Given the description of an element on the screen output the (x, y) to click on. 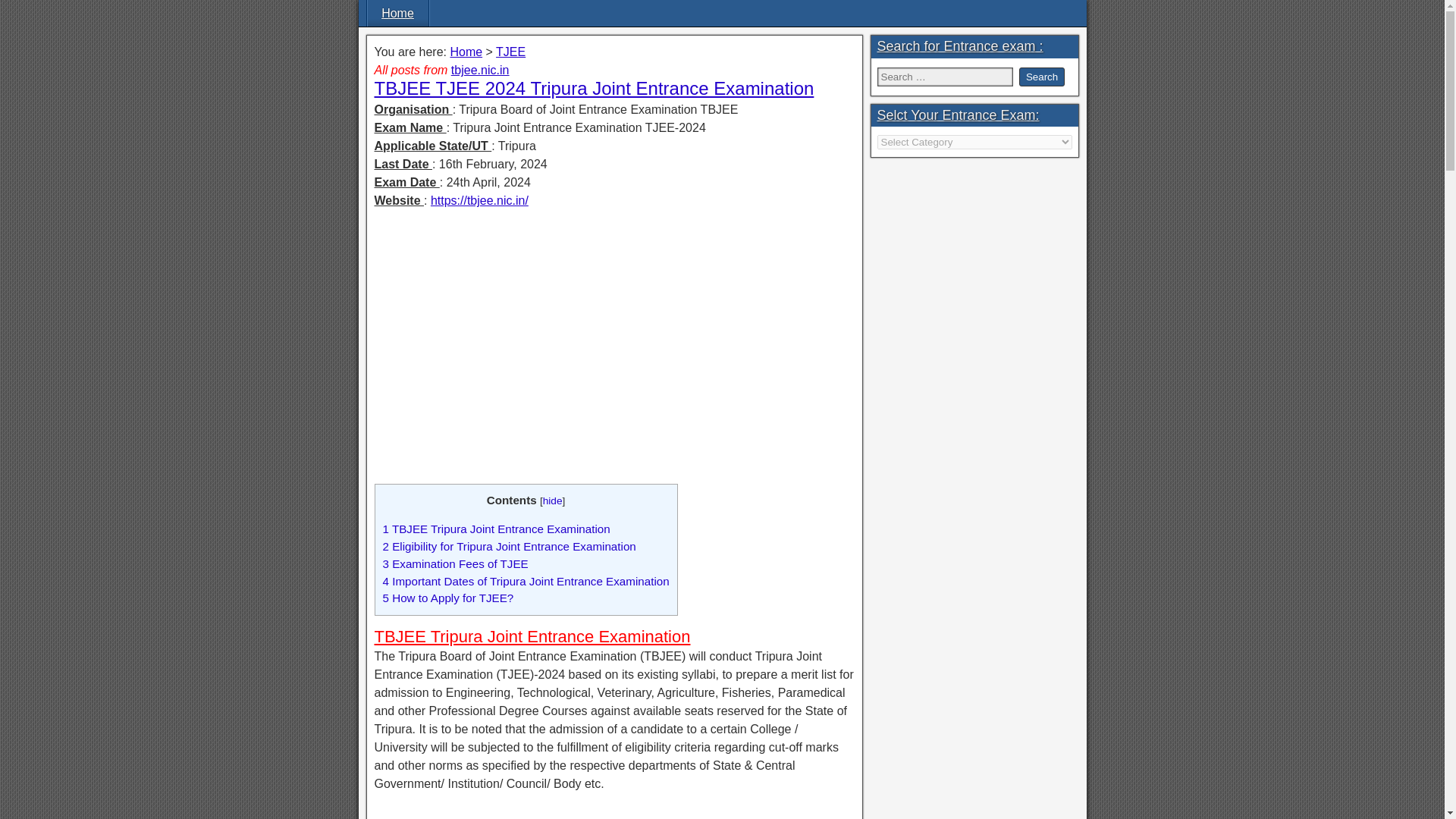
Search (1041, 76)
Home (397, 13)
Advertisement (614, 811)
4 Important Dates of Tripura Joint Entrance Examination (524, 581)
1 TBJEE Tripura Joint Entrance Examination (495, 528)
Search (1041, 76)
Home (465, 51)
hide (552, 500)
Search (1041, 76)
3 Examination Fees of TJEE (454, 563)
TJEE (510, 51)
5 How to Apply for TJEE? (447, 597)
Advertisement (614, 327)
tbjee.nic.in (480, 69)
2 Eligibility for Tripura Joint Entrance Examination (507, 545)
